Given the description of an element on the screen output the (x, y) to click on. 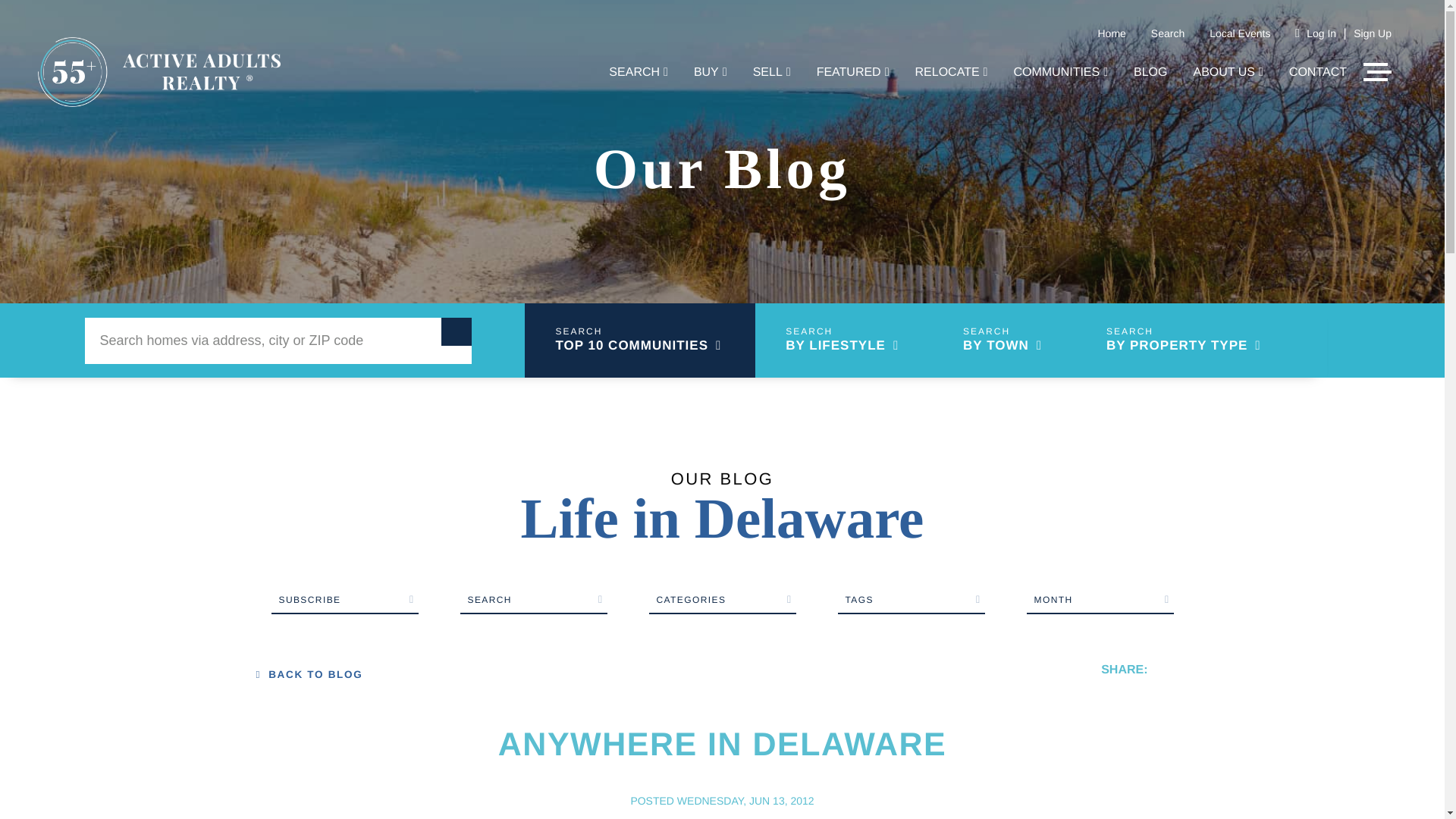
COMMUNITIES (1060, 72)
Sign Up (1372, 33)
Search (1168, 33)
Home (1111, 33)
SELL (771, 72)
BUY (710, 72)
Local Events (1239, 33)
Log In (1321, 33)
RELOCATE (951, 72)
ABOUT US (1228, 72)
